Given the description of an element on the screen output the (x, y) to click on. 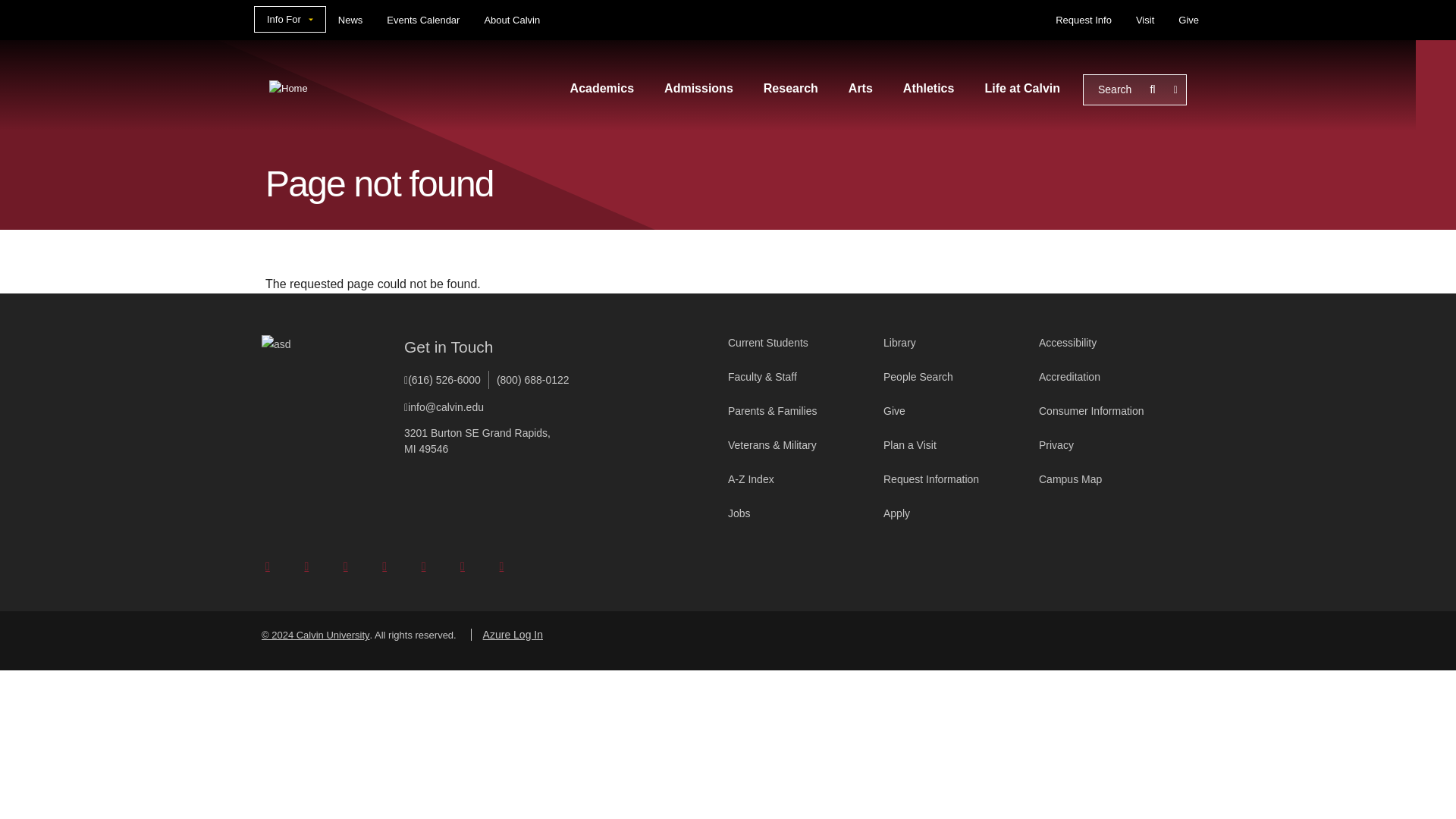
The Arts at Calvin (860, 88)
Give (1188, 20)
Academics at Calvin (602, 88)
Request Info (1083, 20)
Visit Calvin University (1145, 20)
Admissions and Financial Aid at Calvin (698, 88)
Academics (602, 88)
Campus Map (1116, 479)
News and Stories (350, 19)
Events Calendar (422, 19)
